Given the description of an element on the screen output the (x, y) to click on. 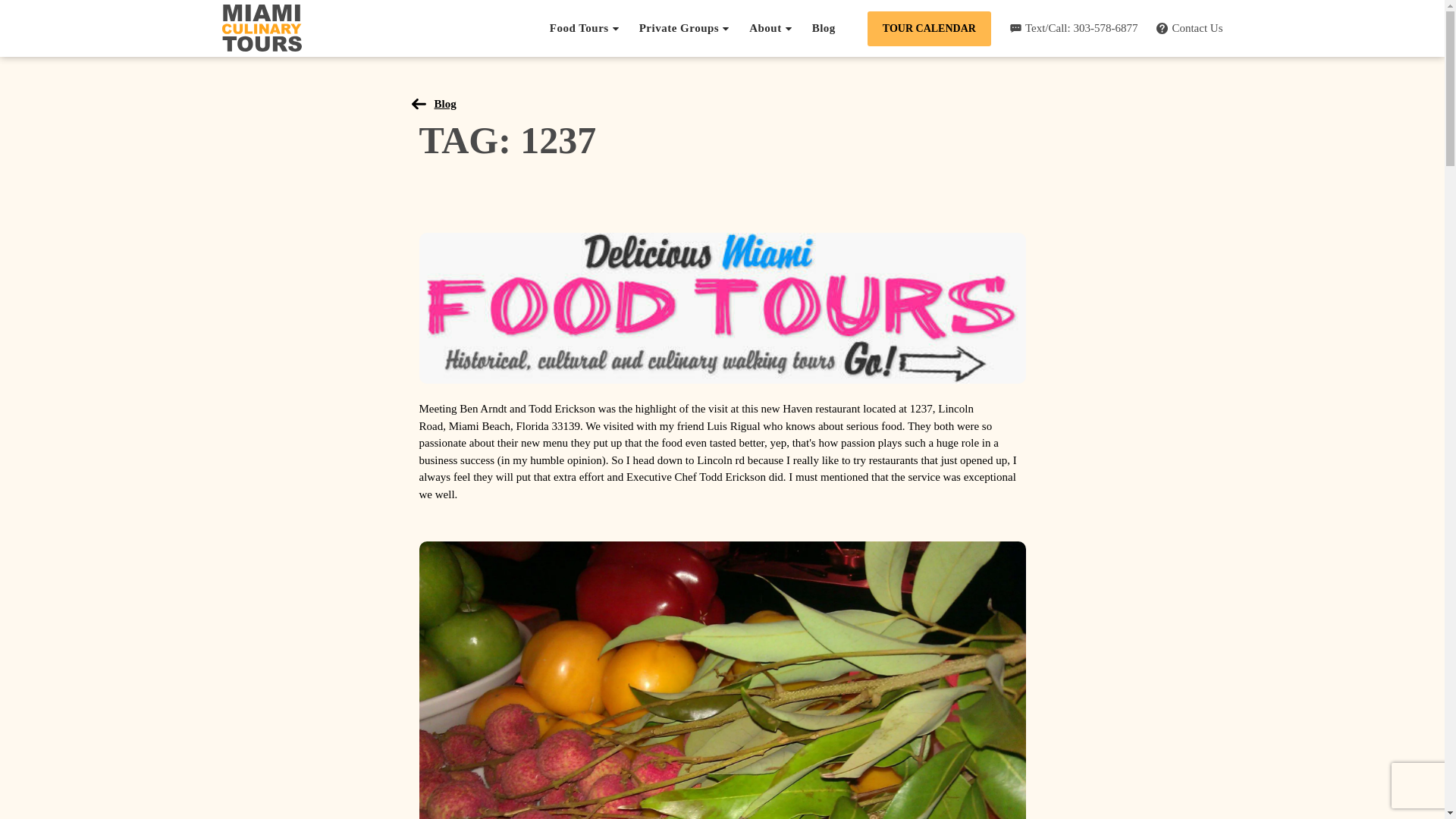
Contact Us (1189, 28)
food tours miami (722, 308)
Private Groups (684, 28)
TOUR CALENDAR (929, 27)
Food Tours (585, 28)
Blog (437, 103)
